Given the description of an element on the screen output the (x, y) to click on. 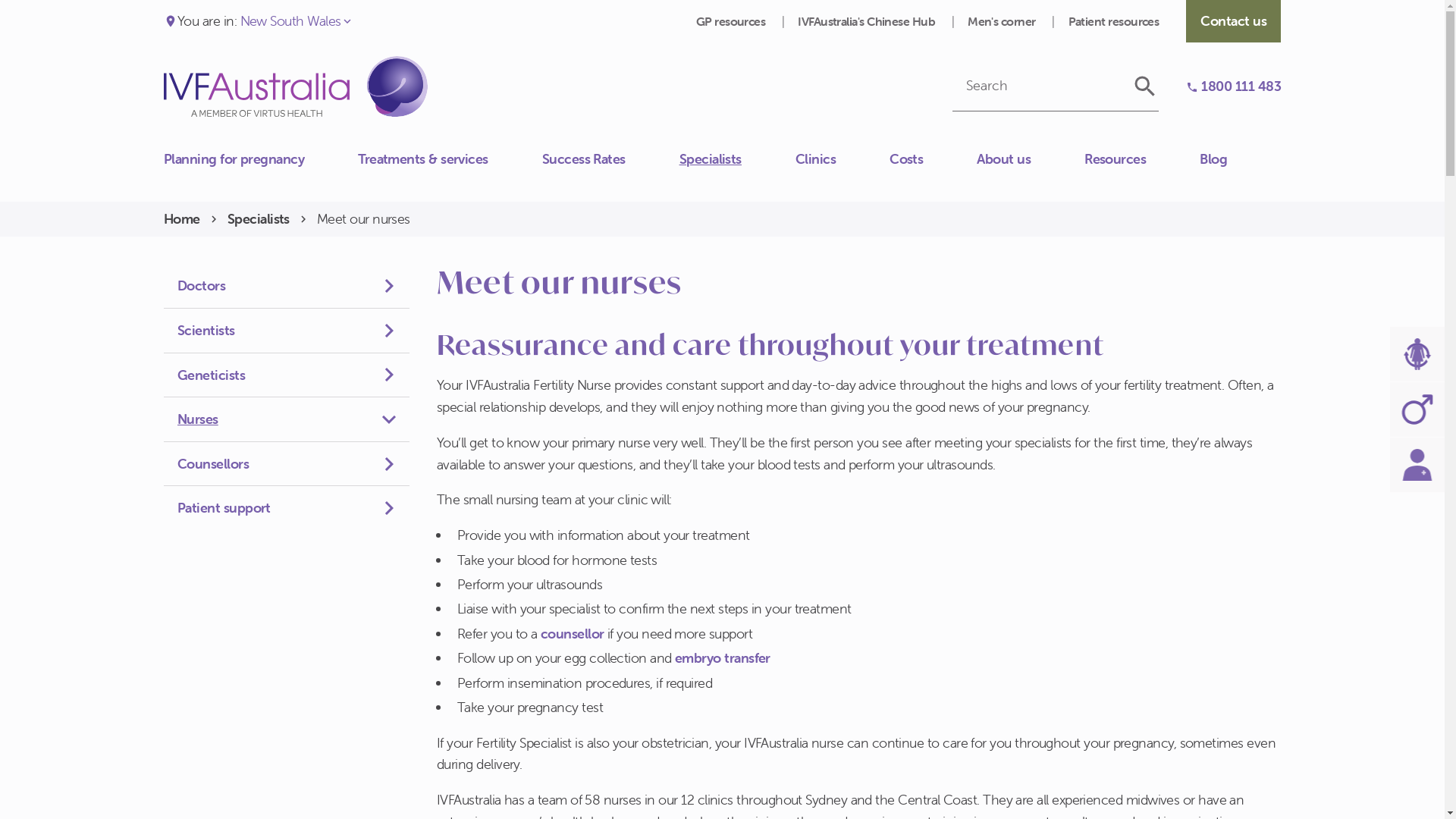
Skip to main content Element type: text (0, 0)
Planning for pregnancy Element type: text (260, 159)
embryo transfer Element type: text (722, 657)
counsellor Element type: text (573, 633)
About us Element type: text (1030, 159)
Geneticists Element type: text (286, 375)
Nurses Element type: text (286, 419)
Specialists Element type: text (737, 159)
Men's corner Element type: text (1002, 20)
Blog Element type: text (1239, 159)
Counsellors Element type: text (286, 464)
Contact us Element type: text (163, 166)
IVFAustralia's Chinese Hub Element type: text (867, 20)
Success Rates Element type: text (610, 159)
Doctors Element type: text (286, 285)
Costs Element type: text (932, 159)
Specialists Element type: text (257, 219)
Treatments & services Element type: text (449, 159)
Contact us Element type: text (1233, 21)
Scientists Element type: text (286, 330)
Close Element type: text (163, 150)
Home Element type: text (181, 219)
GP resources Element type: text (732, 20)
1800 111 483 Element type: text (1233, 85)
Resources Element type: text (1141, 159)
Clinics Element type: text (842, 159)
Patient support Element type: text (286, 508)
Patient resources Element type: text (1113, 20)
